Given the description of an element on the screen output the (x, y) to click on. 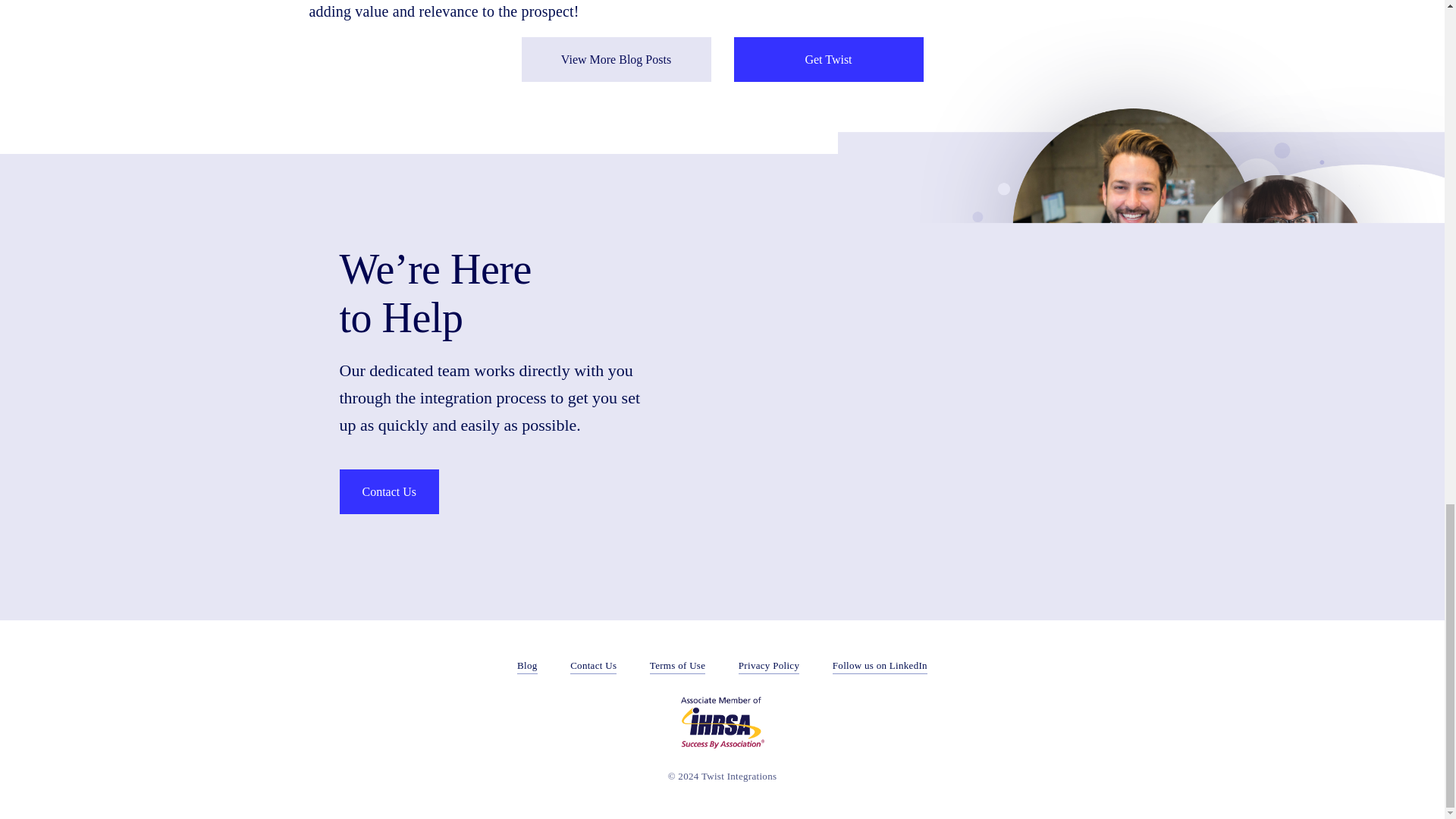
Contact Us (389, 491)
Contact Us (592, 666)
Blog (526, 666)
Get Twist (828, 58)
Privacy Policy (768, 666)
Terms of Use (676, 666)
Follow us on LinkedIn (879, 666)
View More Blog Posts (616, 58)
